Given the description of an element on the screen output the (x, y) to click on. 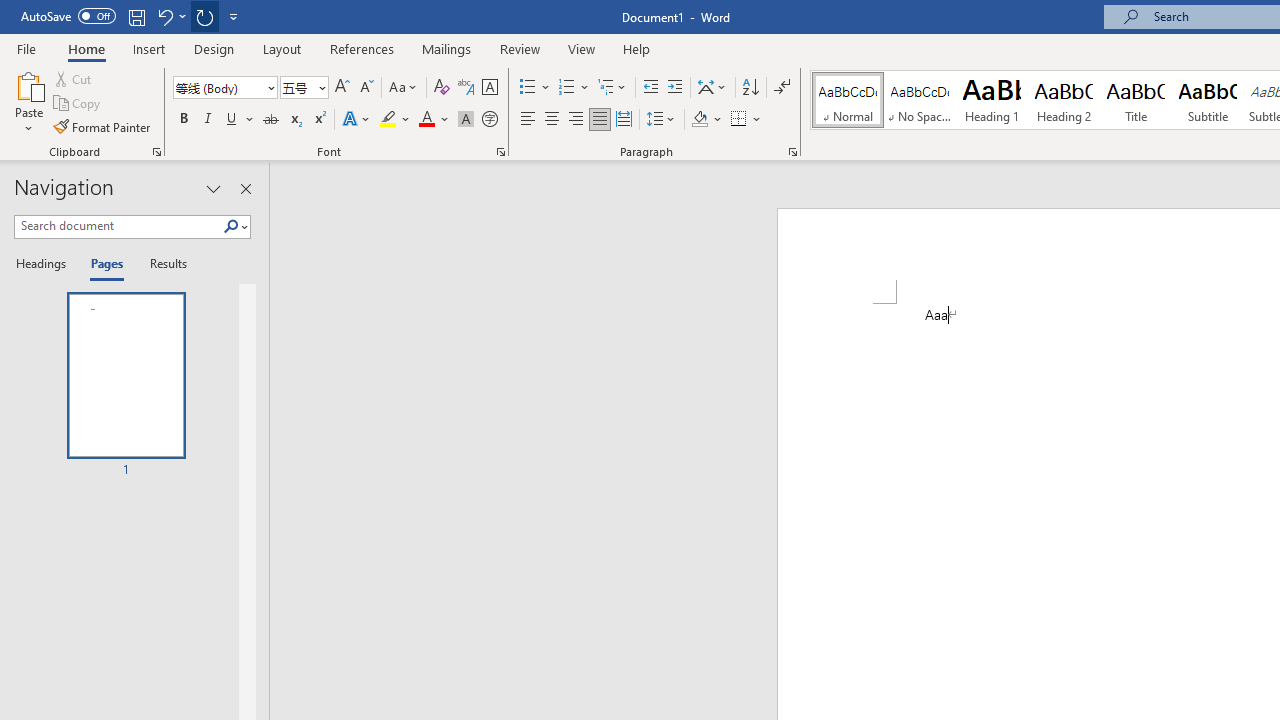
Grow Font (342, 87)
Italic (207, 119)
Line and Paragraph Spacing (661, 119)
Sort... (750, 87)
Cut (73, 78)
Format Painter (103, 126)
Repeat Style (204, 15)
Asian Layout (712, 87)
More Options (757, 119)
Enclose Characters... (489, 119)
Heading 2 (1063, 100)
Text Effects and Typography (357, 119)
Clear Formatting (442, 87)
Text Highlight Color Yellow (388, 119)
